Given the description of an element on the screen output the (x, y) to click on. 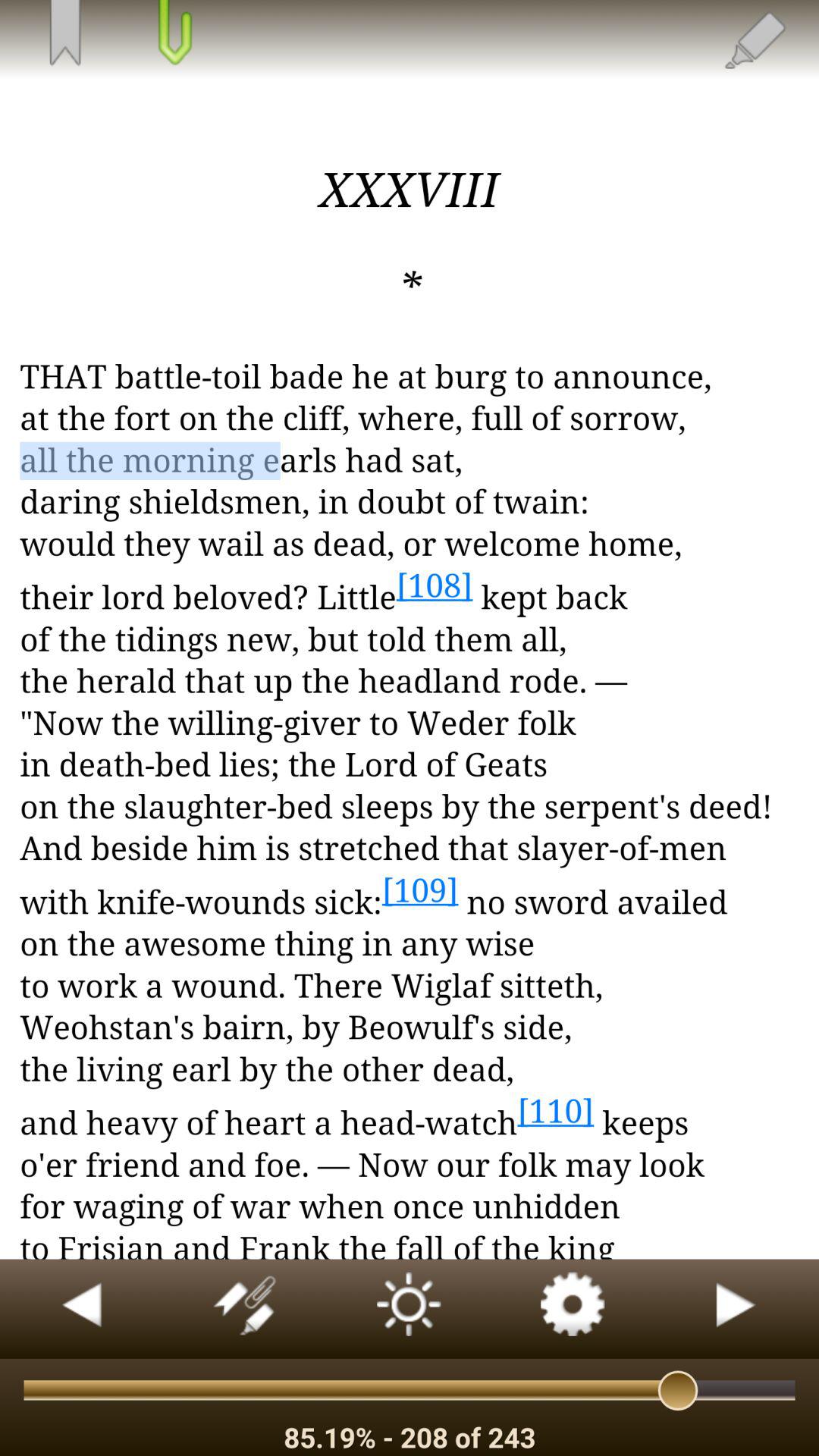
bookmark the page (64, 34)
